Given the description of an element on the screen output the (x, y) to click on. 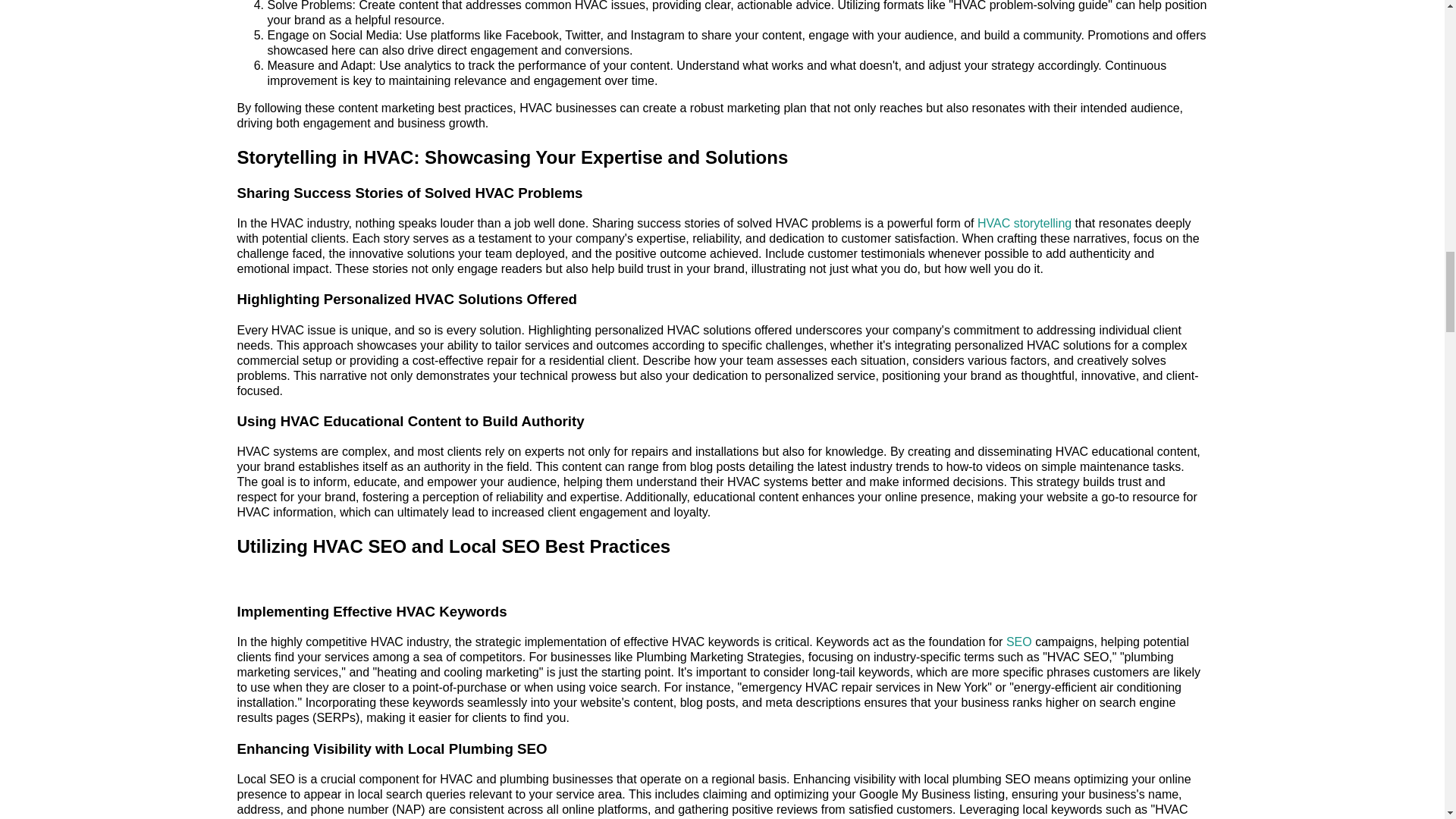
HVAC storytelling (1023, 223)
SEO (1019, 641)
